Given the description of an element on the screen output the (x, y) to click on. 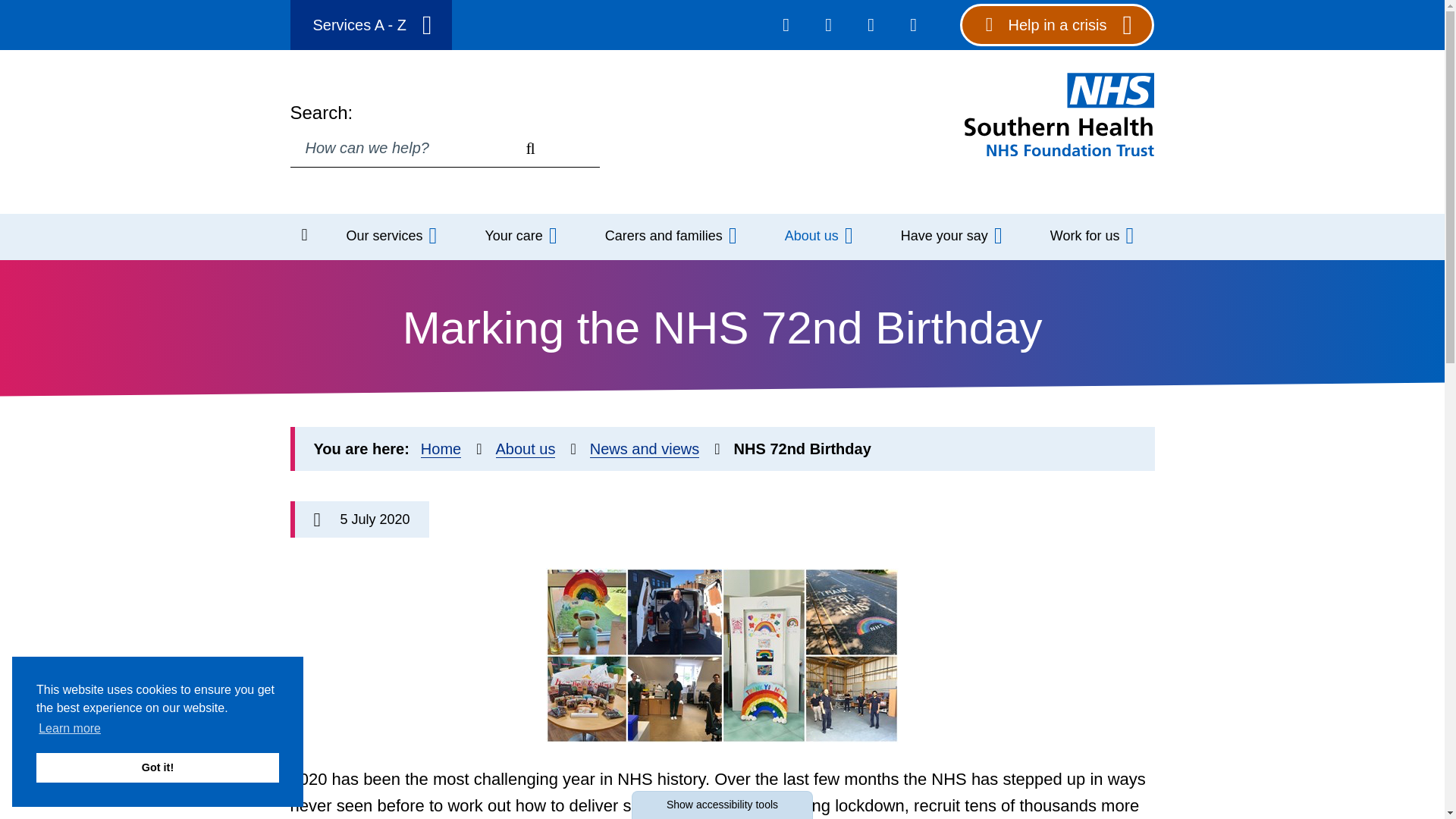
Facebook (785, 24)
Services A - Z (370, 24)
LinkedIn (870, 24)
Your care (518, 236)
Instagram (913, 24)
Twitter (829, 24)
Learn more (69, 728)
Facebook (786, 24)
Our services (389, 236)
Got it! (157, 767)
Twitter (828, 24)
Help in a crisis (1056, 24)
Southern Health NHS Foundation Trust (1058, 113)
Search this website (530, 148)
LinkedIn (871, 24)
